Given the description of an element on the screen output the (x, y) to click on. 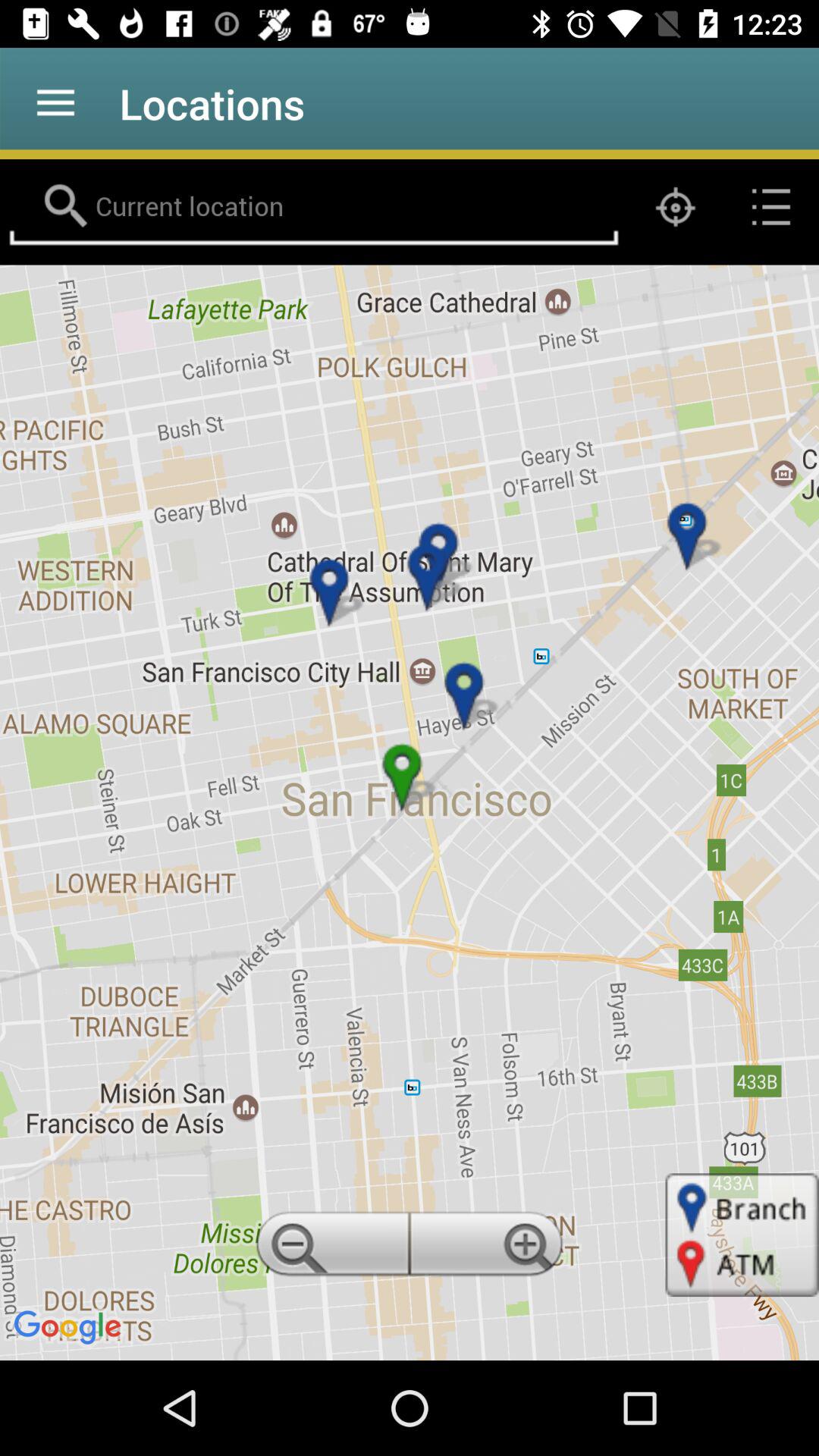
press item at the center (409, 812)
